Given the description of an element on the screen output the (x, y) to click on. 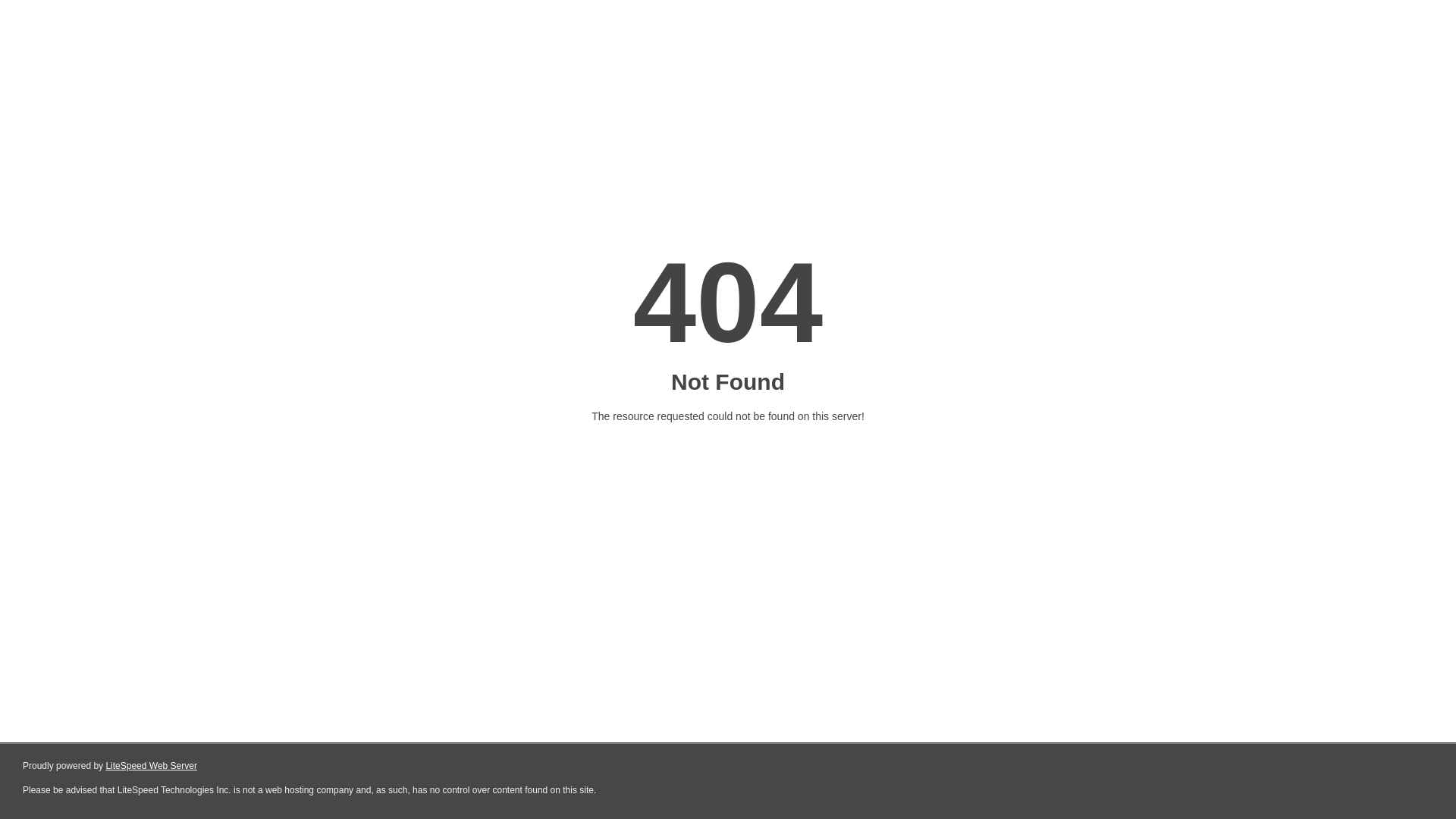
LiteSpeed Web Server Element type: text (151, 765)
